Given the description of an element on the screen output the (x, y) to click on. 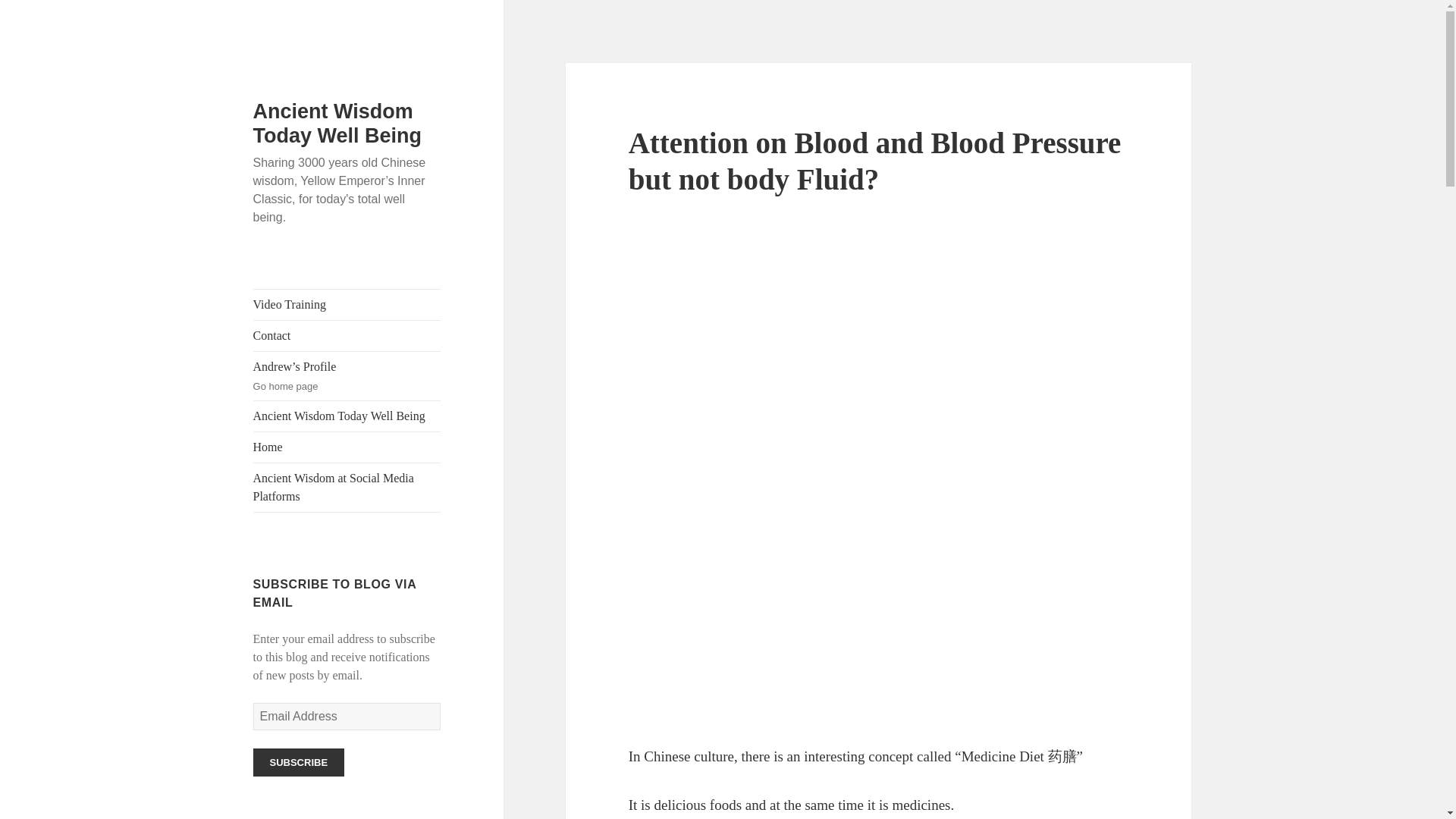
Ancient Wisdom Today Well Being (347, 416)
Video Training (347, 304)
Ancient Wisdom Today Well Being (337, 123)
Contact (347, 336)
Home (347, 447)
Ancient Wisdom at Social Media Platforms (347, 487)
SUBSCRIBE (299, 762)
